Given the description of an element on the screen output the (x, y) to click on. 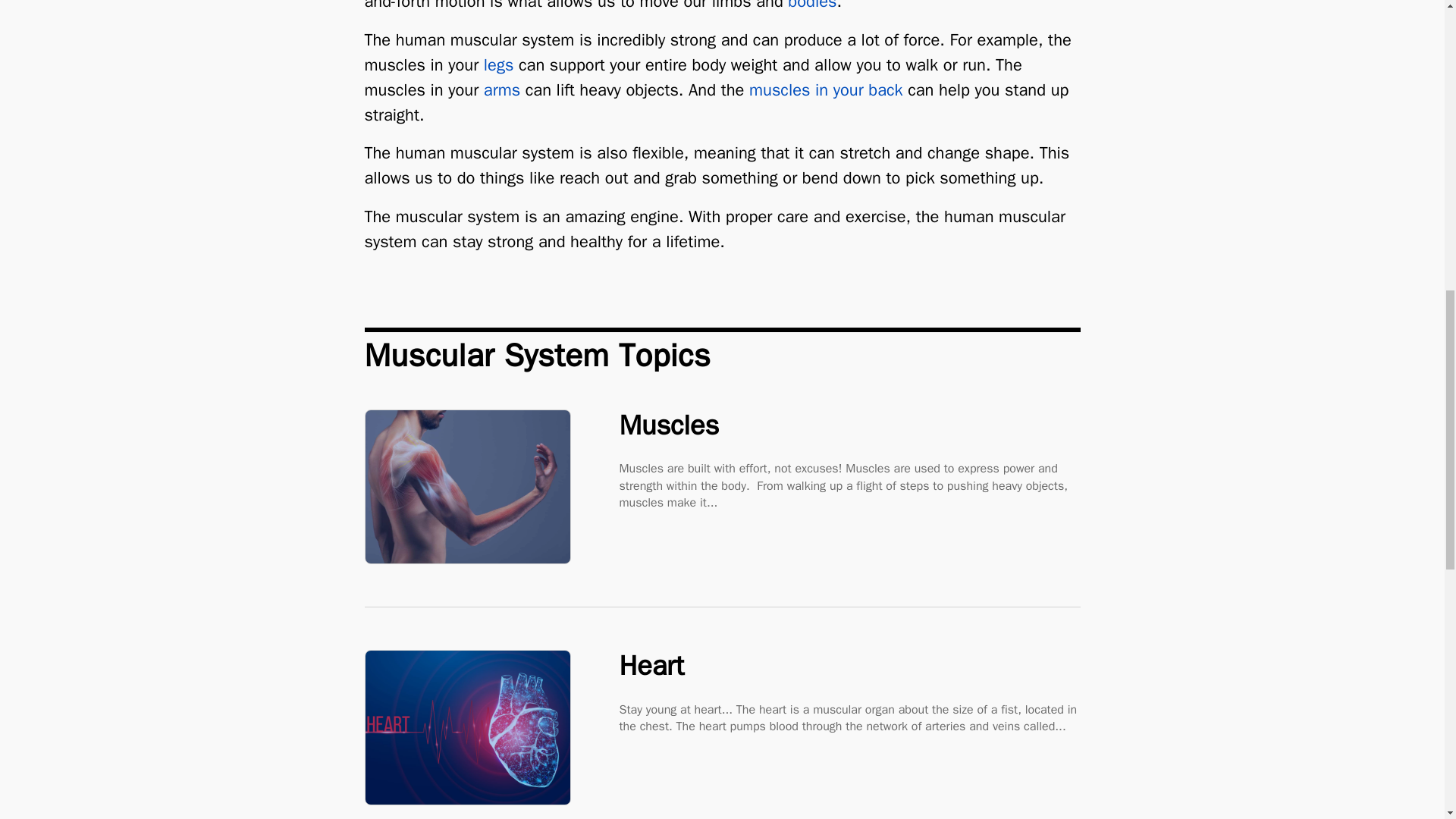
bodies (811, 6)
Muscles (849, 434)
Heart (849, 675)
arms (501, 89)
legs (498, 65)
muscles in your back (825, 89)
